Given the description of an element on the screen output the (x, y) to click on. 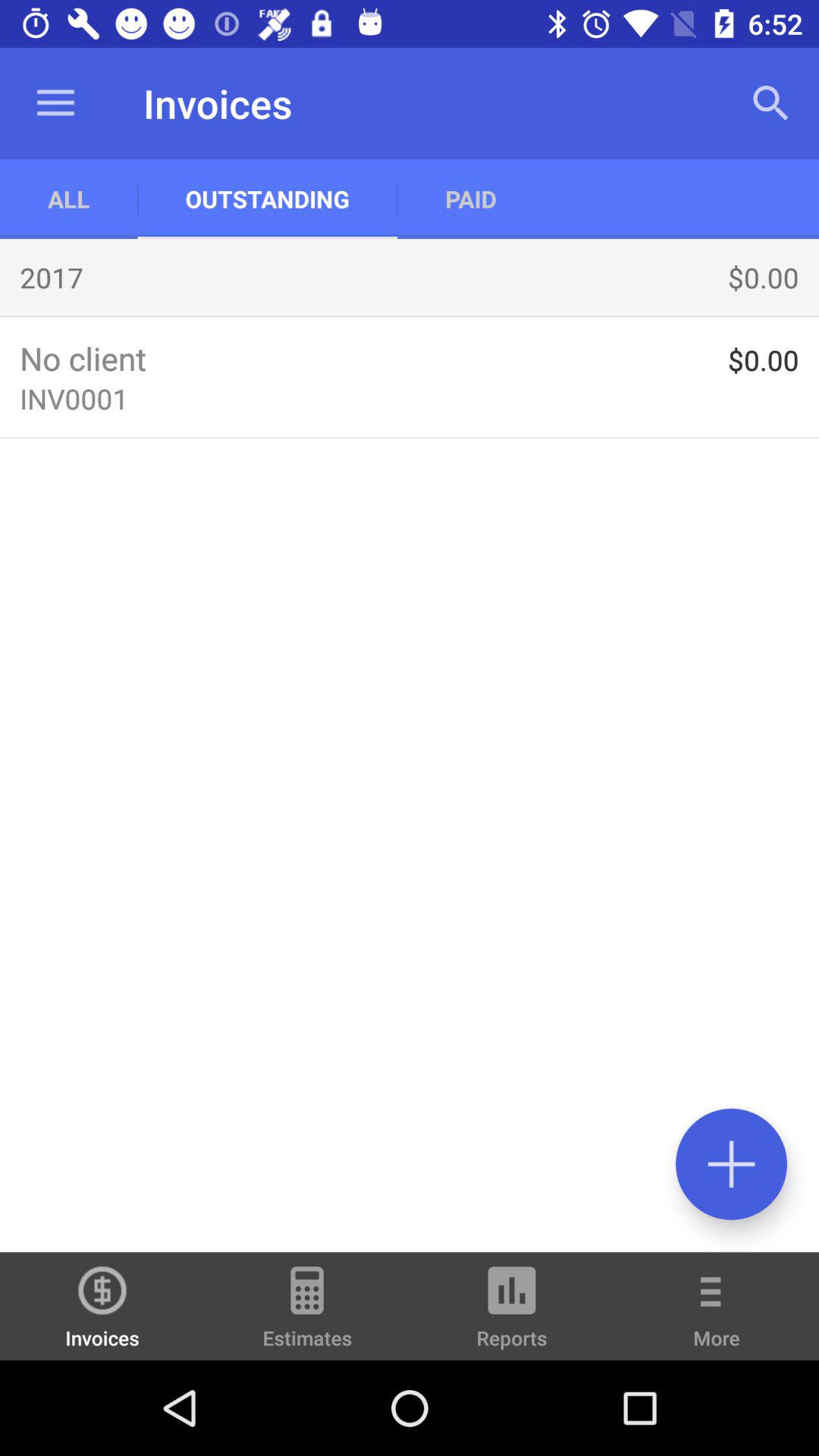
new invoice (731, 1163)
